Given the description of an element on the screen output the (x, y) to click on. 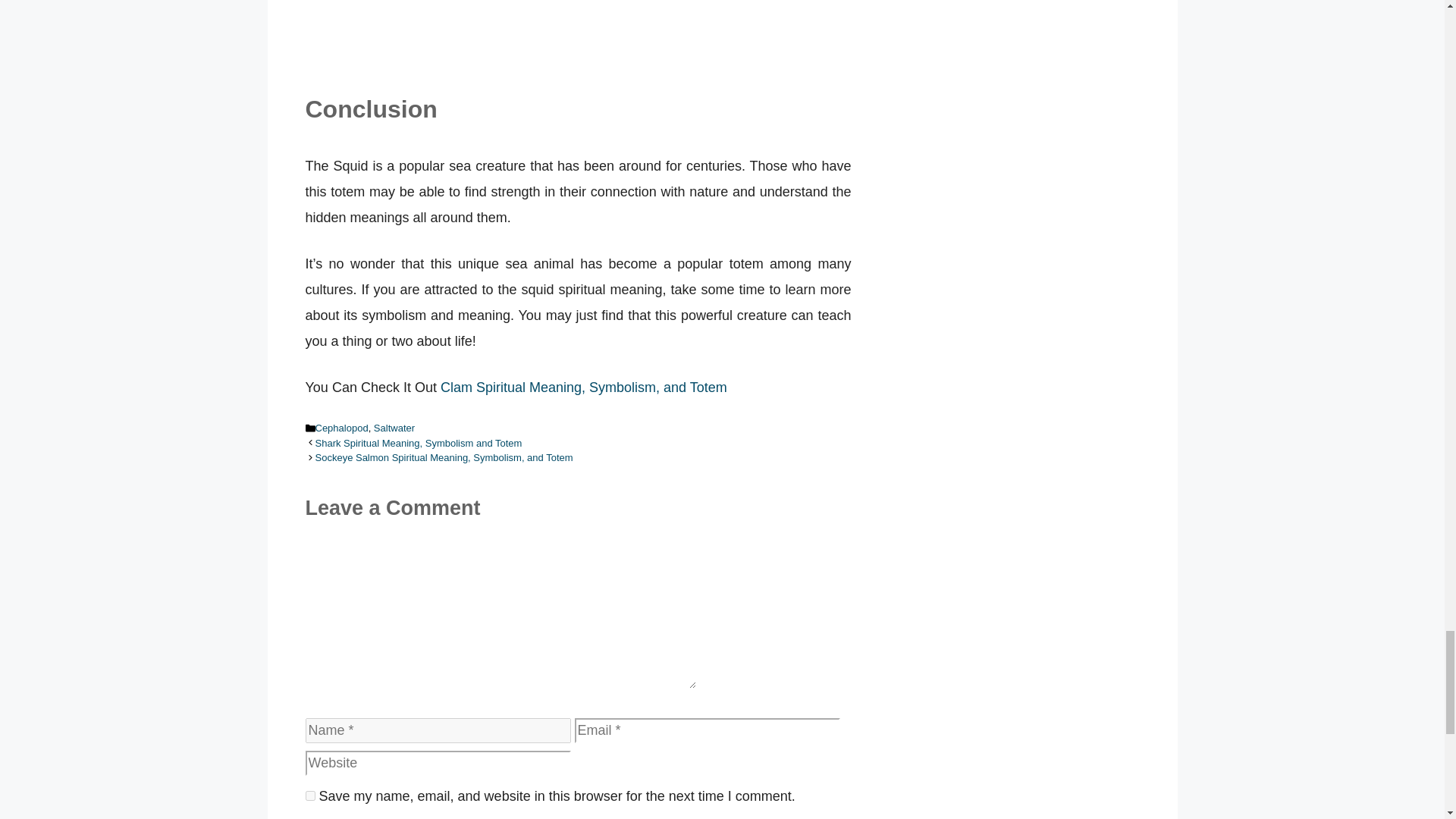
Cephalopod (341, 428)
yes (309, 795)
Sockeye Salmon Spiritual Meaning, Symbolism, and Totem (444, 457)
Saltwater (394, 428)
Shark Spiritual Meaning, Symbolism and Totem (418, 442)
Clam Spiritual Meaning, Symbolism, and Totem (583, 387)
